Given the description of an element on the screen output the (x, y) to click on. 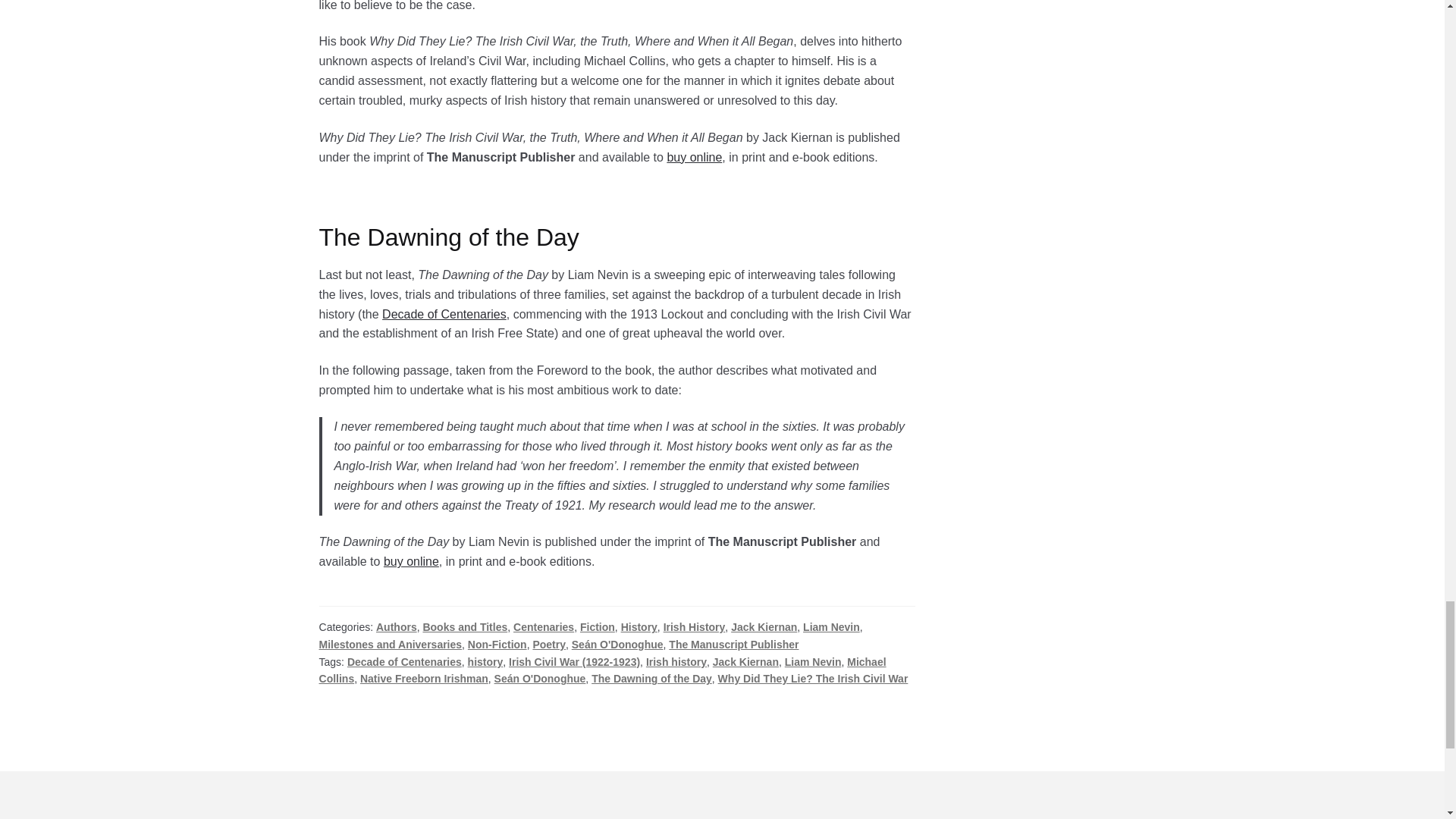
The Dawning of the Day by Liam Nevin (411, 561)
Official website (443, 314)
